Given the description of an element on the screen output the (x, y) to click on. 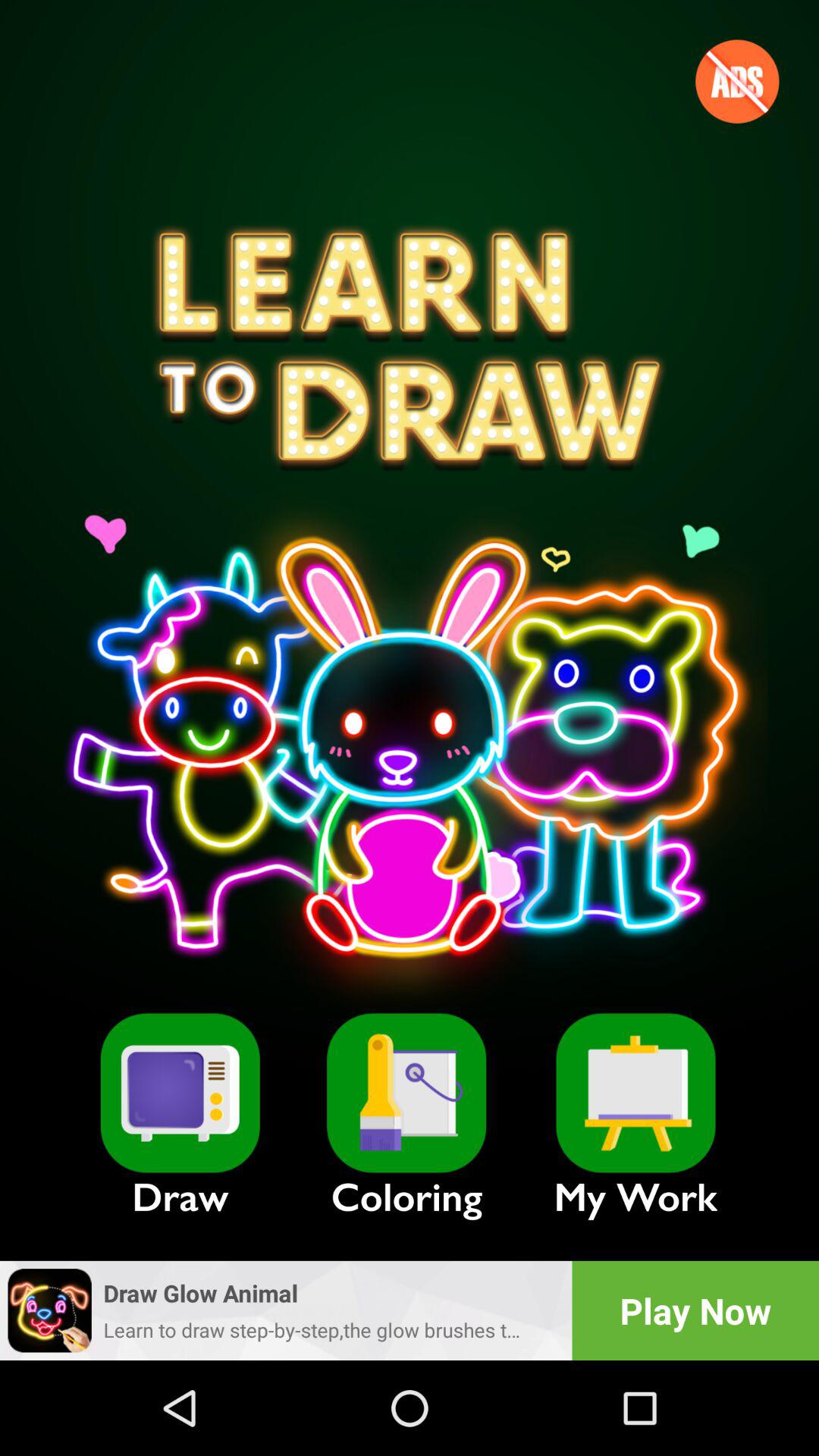
open icon to the left of my work icon (406, 1092)
